Given the description of an element on the screen output the (x, y) to click on. 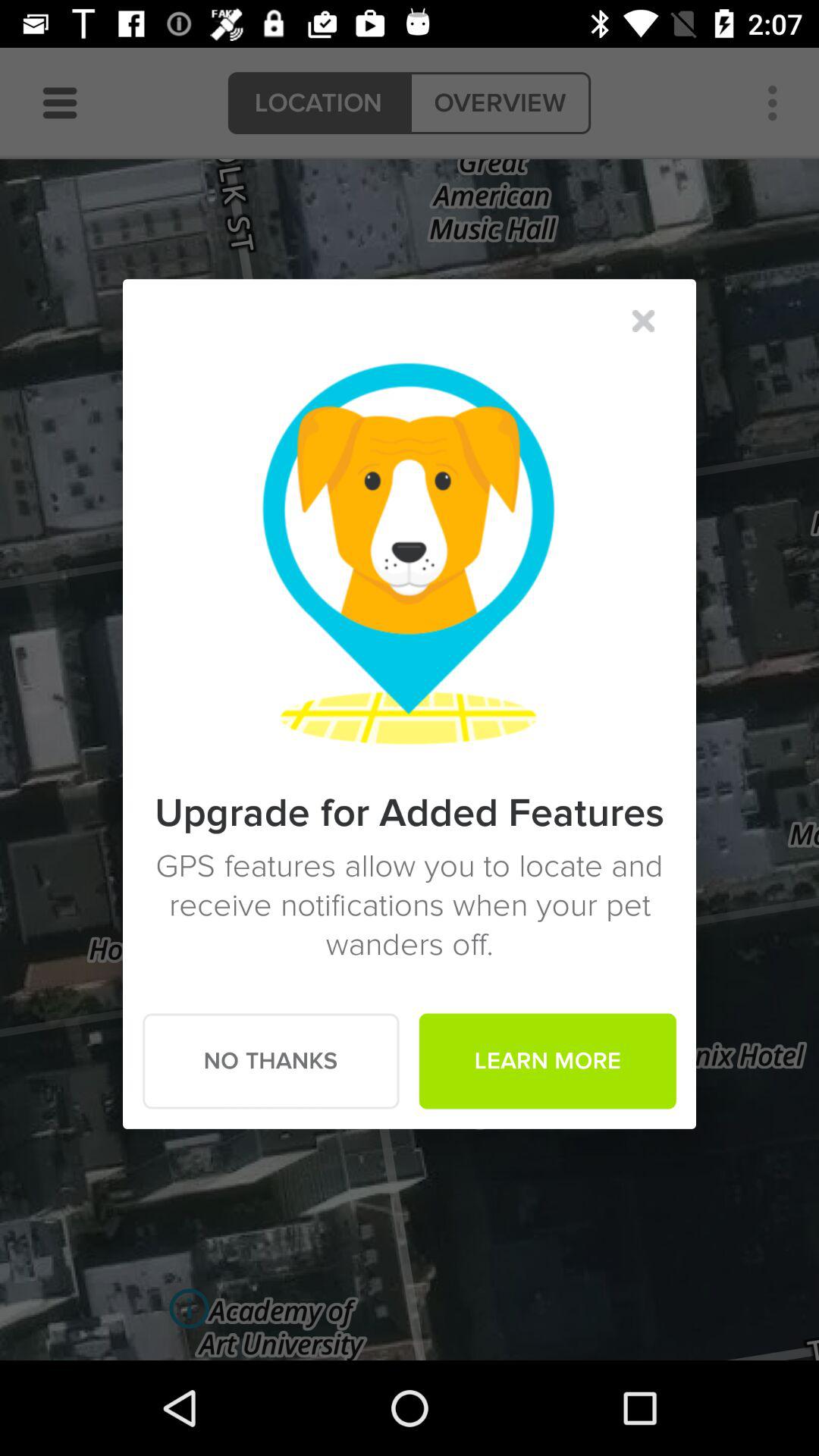
close the article (643, 320)
